Given the description of an element on the screen output the (x, y) to click on. 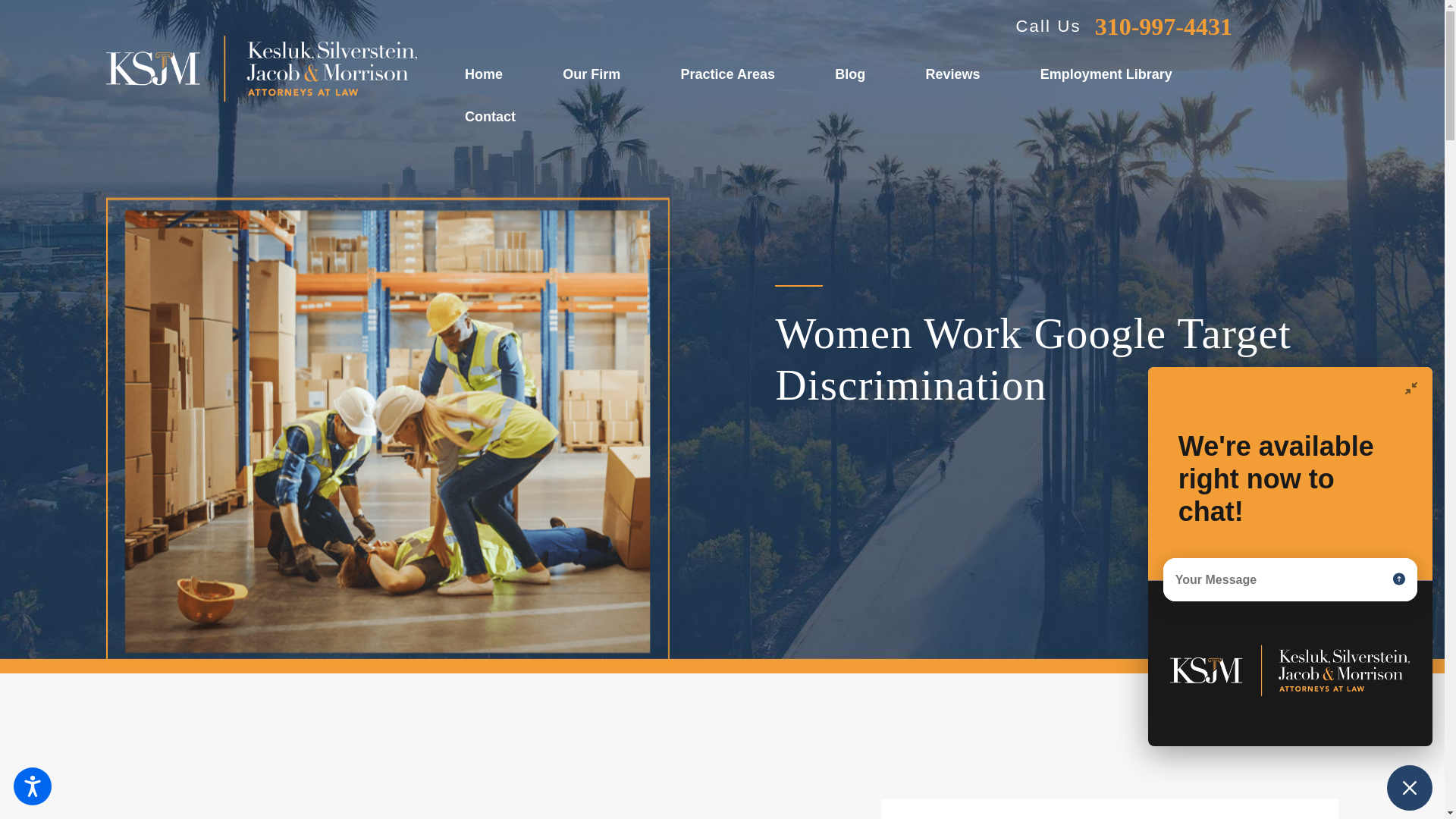
Our Firm (596, 75)
Practice Areas (733, 75)
310-997-4431 (1162, 26)
Open the accessibility options menu (31, 786)
Home (488, 75)
